Given the description of an element on the screen output the (x, y) to click on. 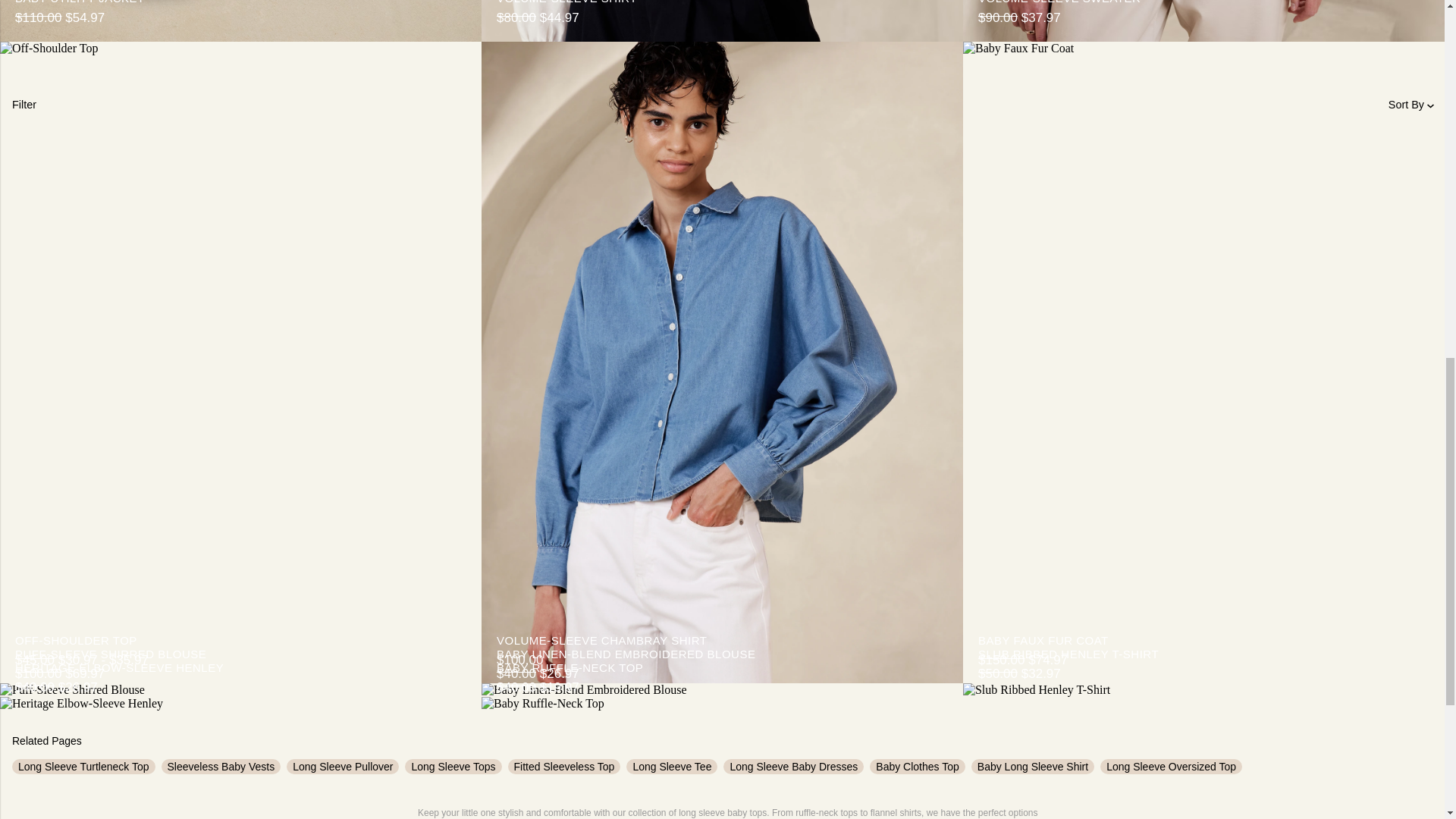
PUFF-SLEEVE SHIRRED BLOUSE (239, 654)
BABY FAUX FUR COAT (1203, 640)
VOLUME-SLEEVE CHAMBRAY SHIRT (721, 640)
OFF-SHOULDER TOP (239, 640)
